Given the description of an element on the screen output the (x, y) to click on. 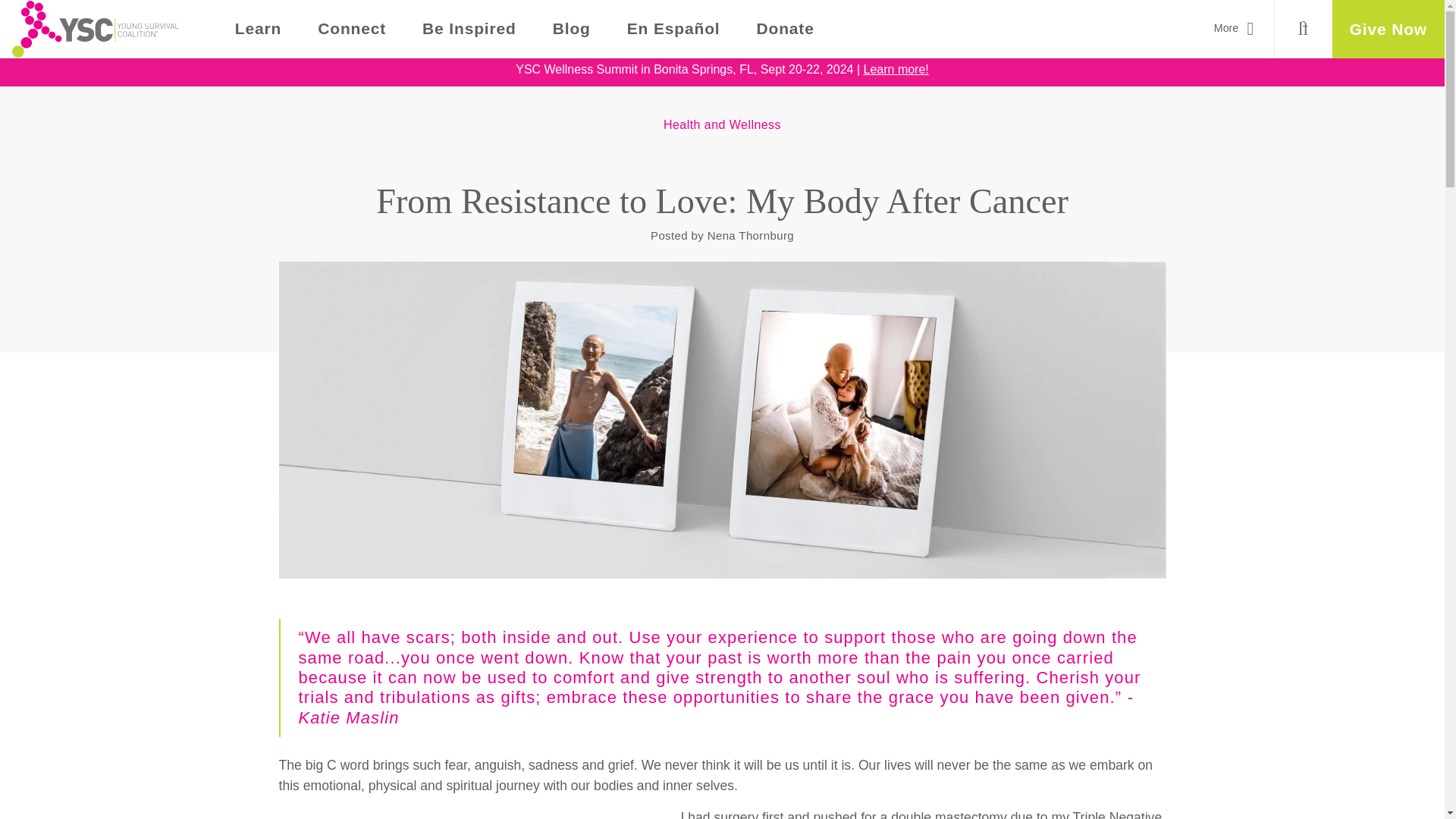
Health and Wellness (721, 124)
Learn (257, 28)
Search (1303, 29)
Connect (351, 28)
